Given the description of an element on the screen output the (x, y) to click on. 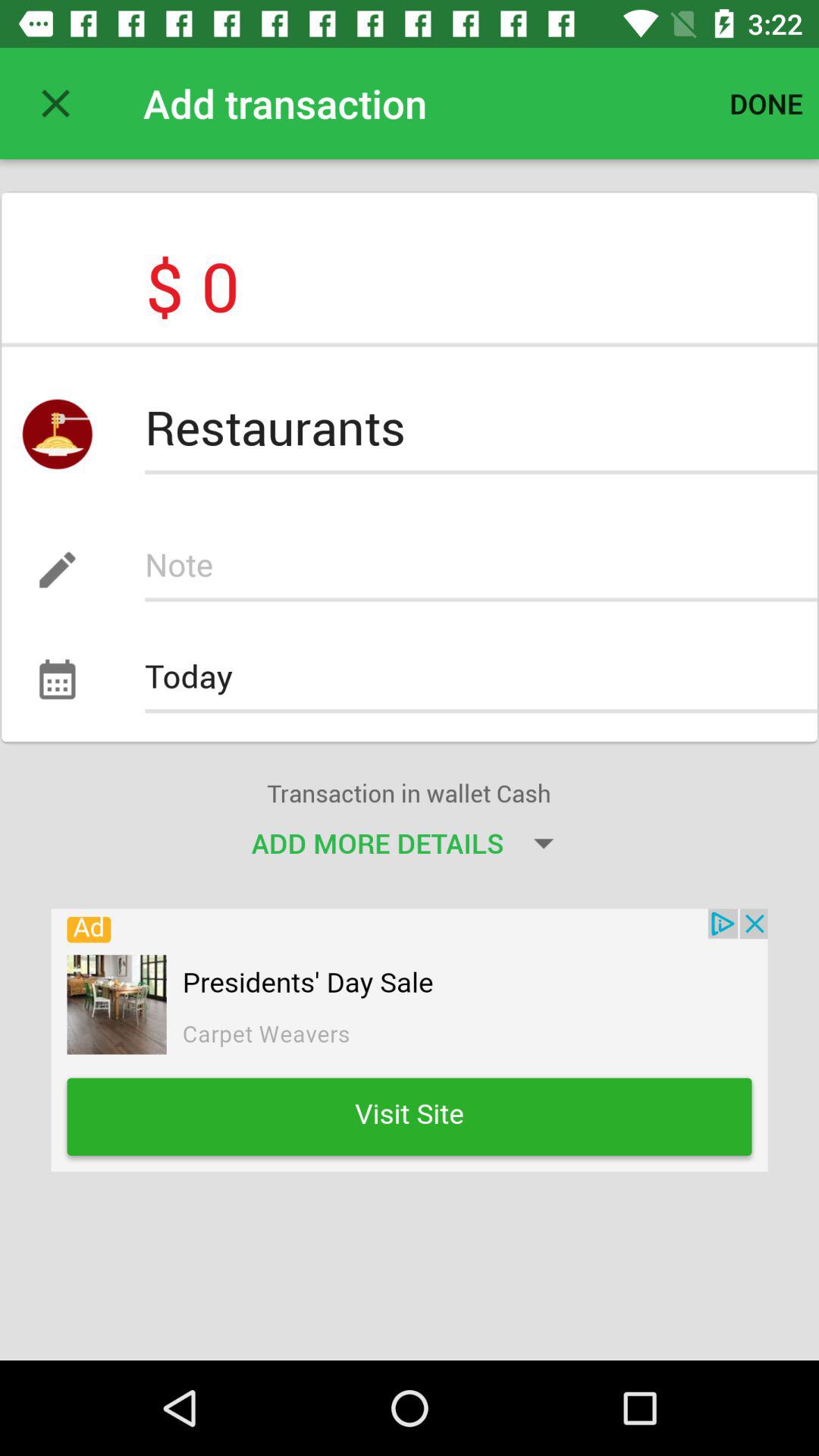
notes box (481, 569)
